Given the description of an element on the screen output the (x, y) to click on. 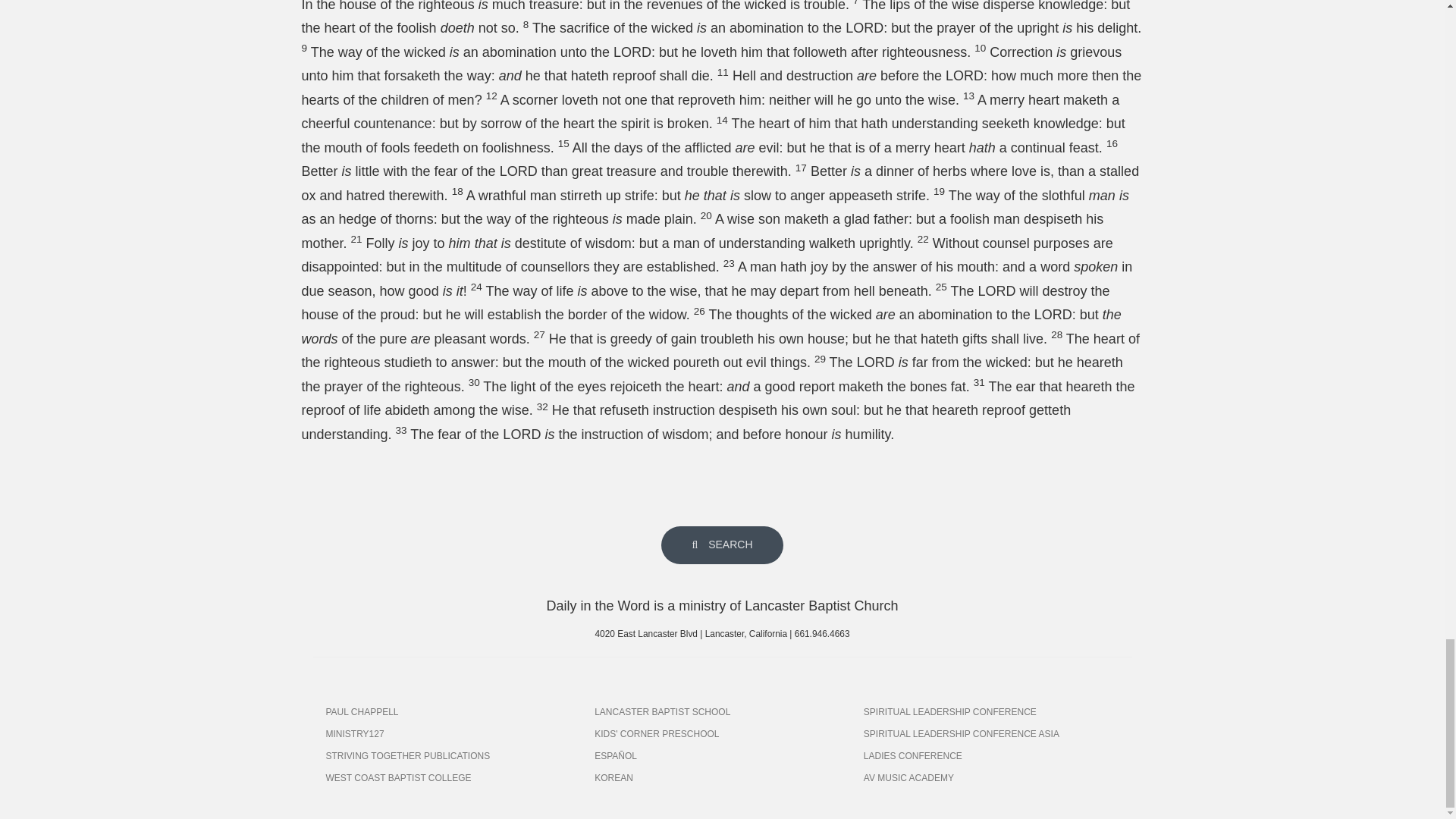
KOREAN (721, 777)
SPIRITUAL LEADERSHIP CONFERENCE (991, 711)
SEARCH (722, 545)
MINISTRY127 (453, 733)
STRIVING TOGETHER PUBLICATIONS (453, 755)
LADIES CONFERENCE (991, 755)
WEST COAST BAPTIST COLLEGE (453, 777)
KIDS' CORNER PRESCHOOL (721, 733)
PAUL CHAPPELL (453, 711)
SPIRITUAL LEADERSHIP CONFERENCE ASIA (991, 733)
LANCASTER BAPTIST SCHOOL (721, 711)
AV MUSIC ACADEMY (991, 777)
